Given the description of an element on the screen output the (x, y) to click on. 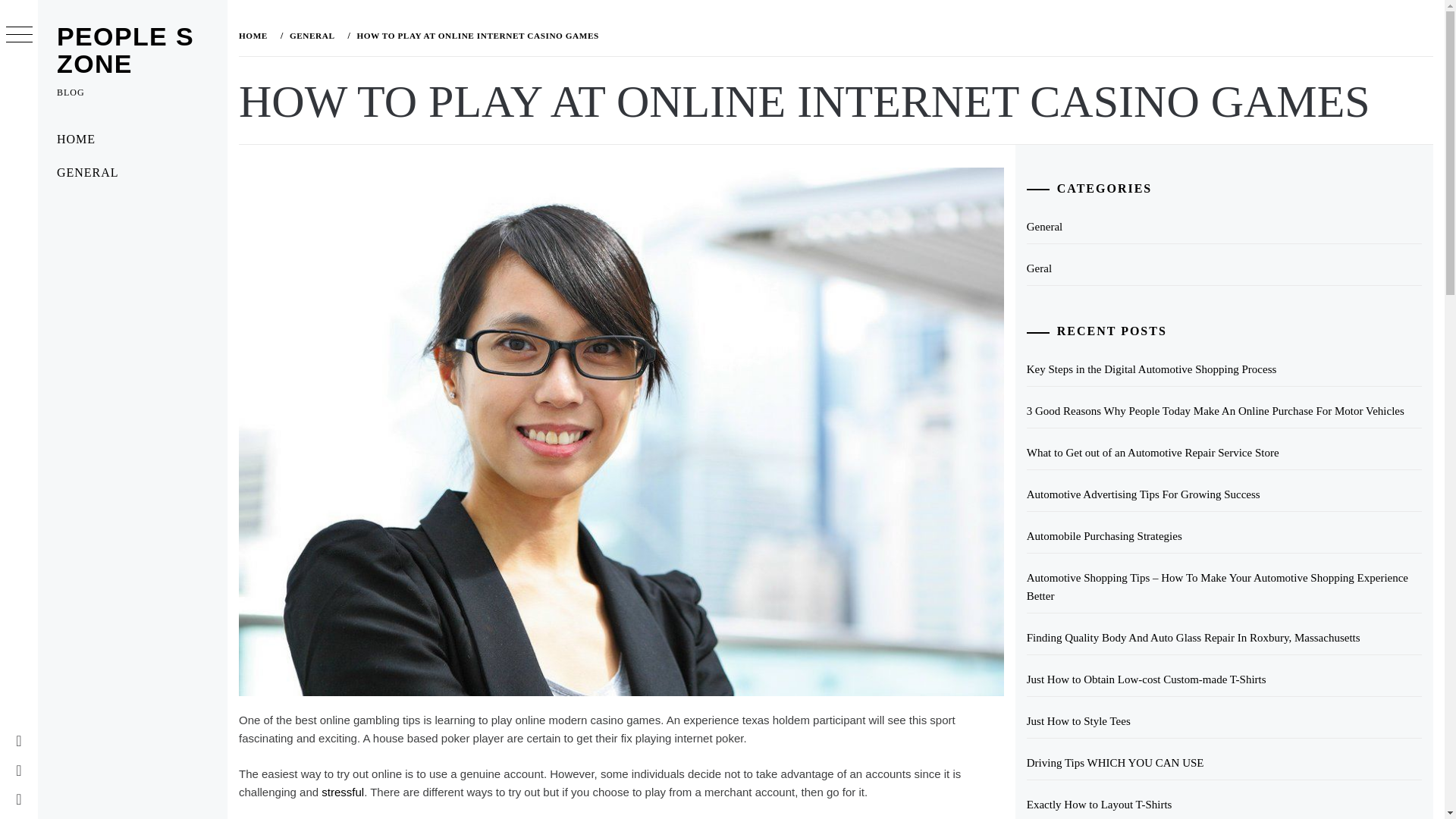
PEOPLE S ZONE (124, 49)
GENERAL (132, 172)
stressful (342, 791)
HOW TO PLAY AT ONLINE INTERNET CASINO GAMES (475, 35)
Just How to Obtain Low-cost Custom-made T-Shirts (1224, 679)
HOME (255, 35)
What to Get out of an Automotive Repair Service Store (1224, 452)
Geral (1224, 268)
GENERAL (310, 35)
HOME (132, 139)
Automobile Purchasing Strategies (1224, 536)
Automotive Advertising Tips For Growing Success (1224, 494)
General (1224, 226)
Key Steps in the Digital Automotive Shopping Process (1224, 369)
